Given the description of an element on the screen output the (x, y) to click on. 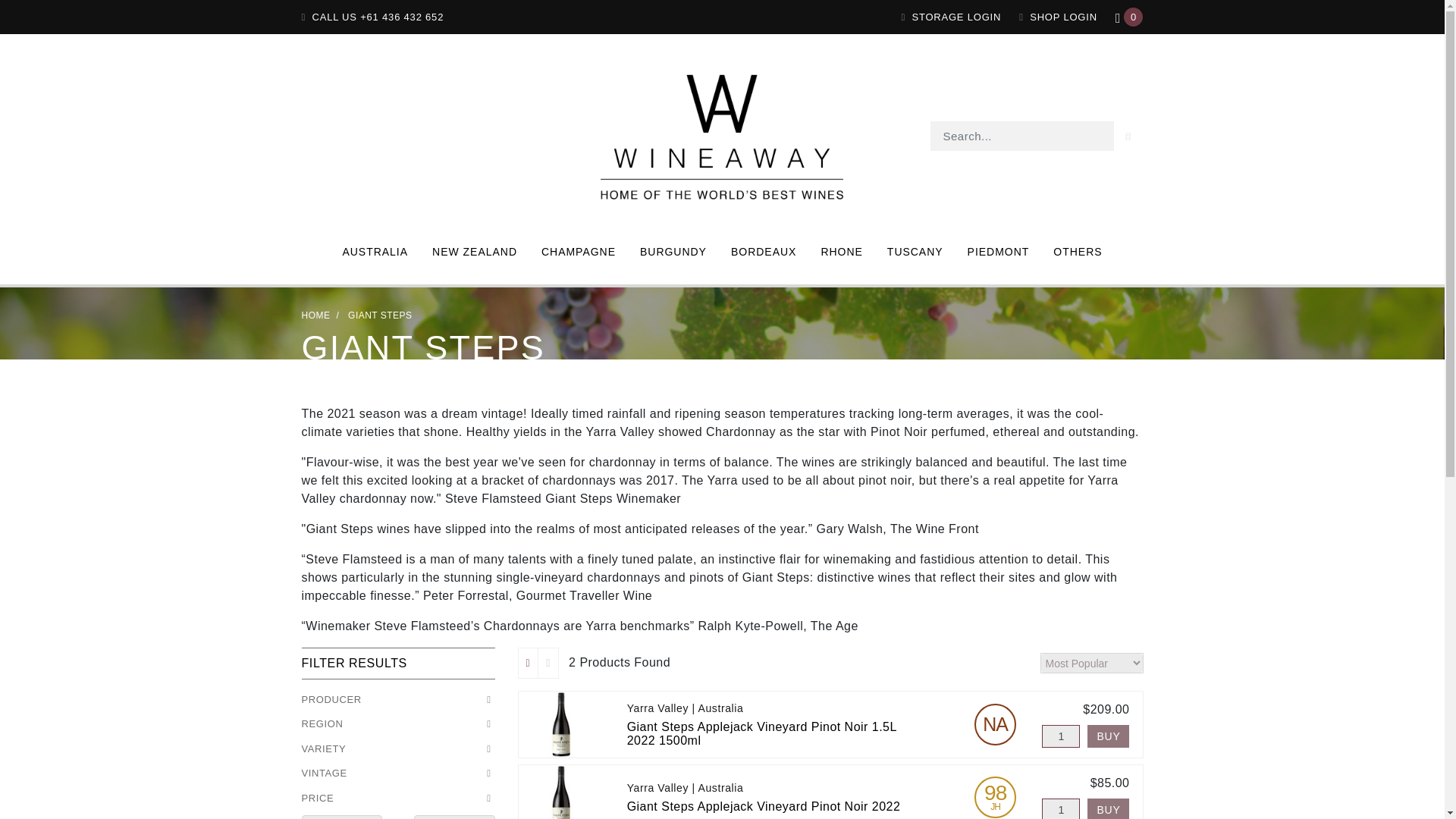
SHOP LOGIN (1058, 17)
Search (1127, 135)
1 (1061, 808)
STORAGE LOGIN (951, 17)
AUSTRALIA (375, 252)
Wineaway Holdings Pty Ltd (721, 134)
0 (1128, 16)
1 (1061, 735)
